Given the description of an element on the screen output the (x, y) to click on. 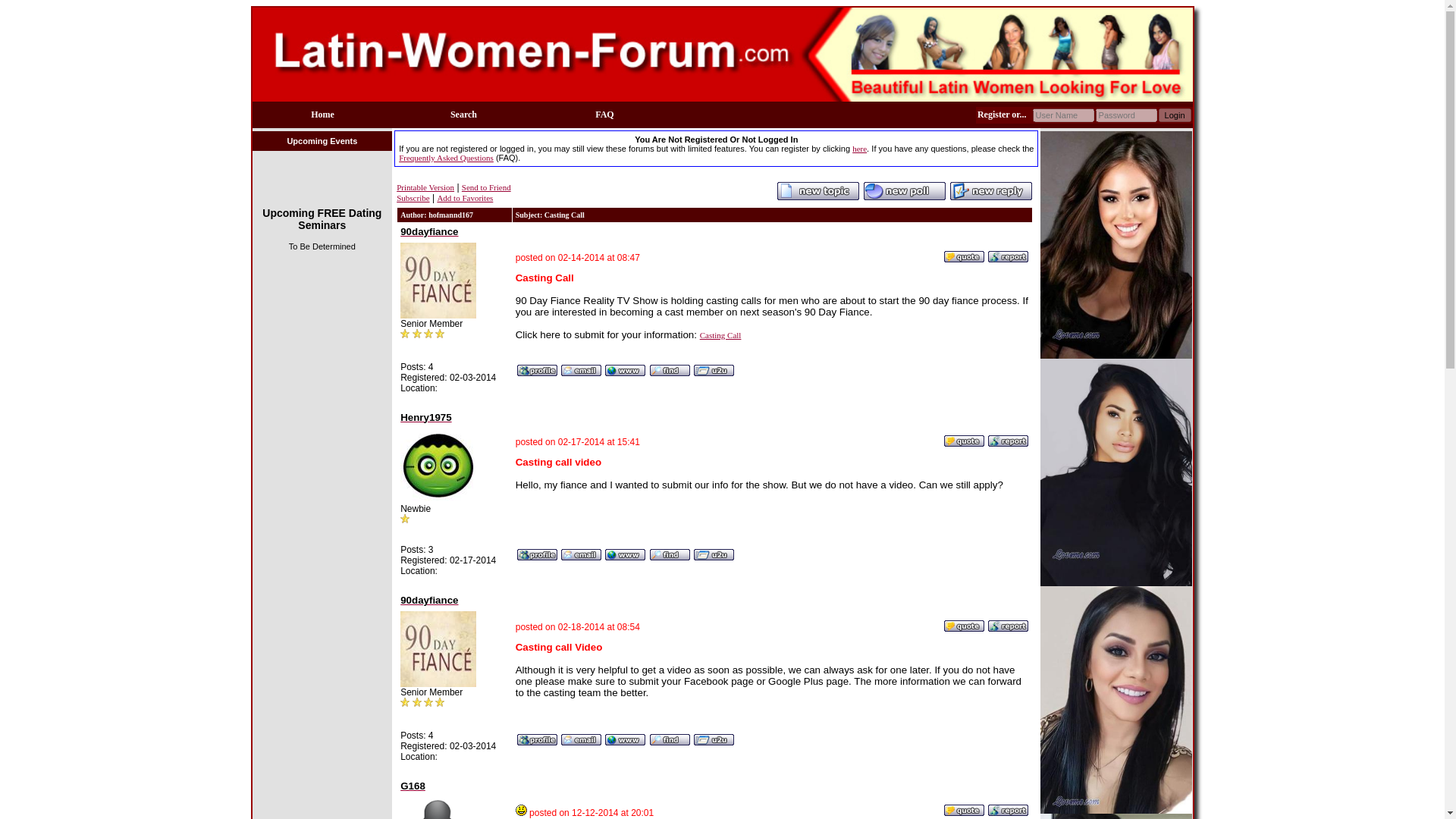
90dayfiance (429, 600)
Frequently Asked Questions (445, 157)
Henry1975 (425, 417)
smile (521, 809)
Create a new topic on this forum (904, 197)
Create a new topic on this forum (818, 197)
Send to Friend (486, 186)
Register or...   (1003, 113)
here (858, 148)
Printable Version (425, 186)
Search (463, 113)
Casting Call (720, 334)
Login (1174, 114)
Home (322, 113)
Add a new reply to this topic (990, 197)
